Given the description of an element on the screen output the (x, y) to click on. 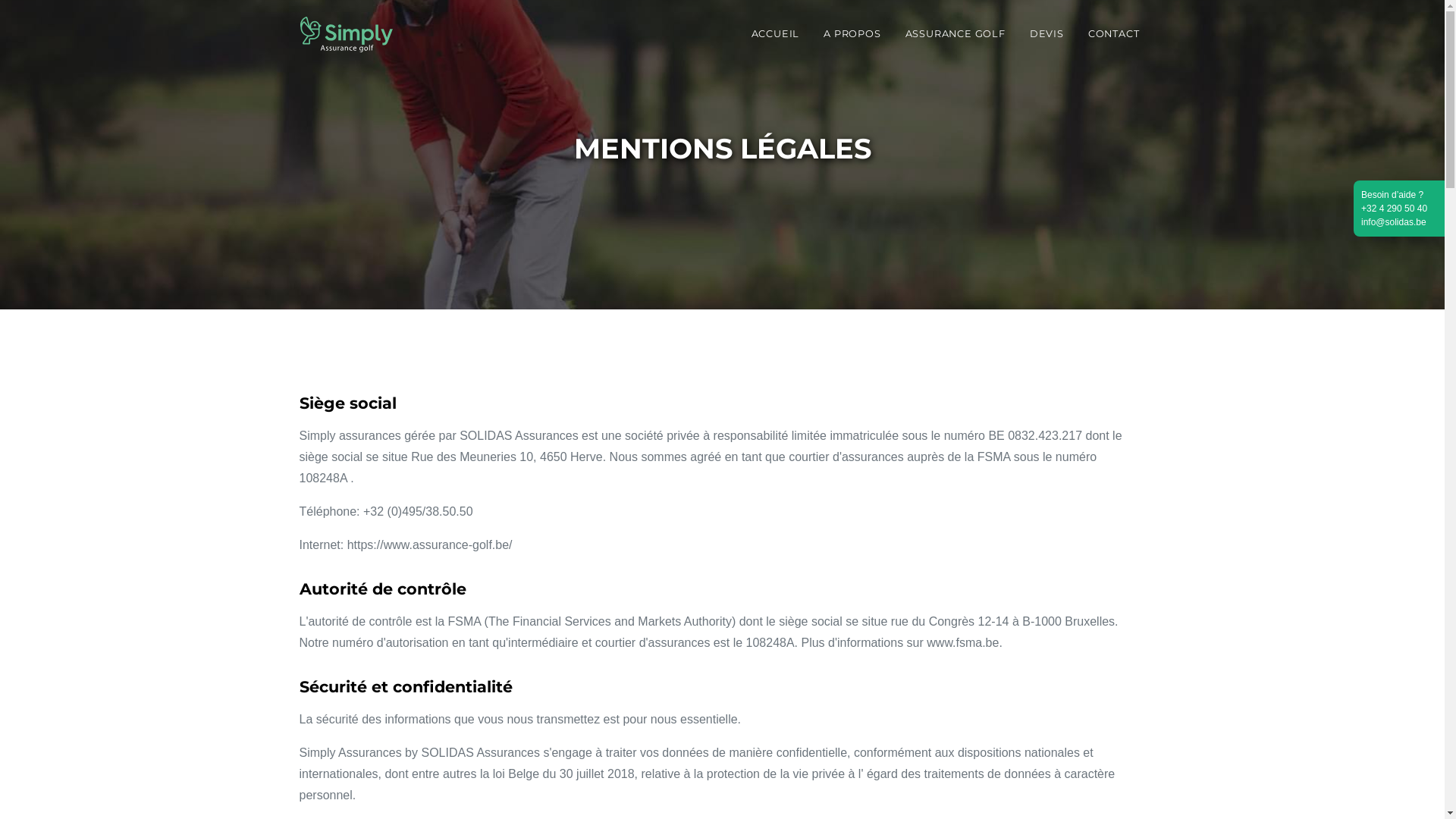
A PROPOS Element type: text (851, 33)
ACCUEIL Element type: text (775, 33)
DEVIS Element type: text (1046, 33)
CONTACT Element type: text (1113, 33)
ASSURANCE GOLF Element type: text (955, 33)
